Given the description of an element on the screen output the (x, y) to click on. 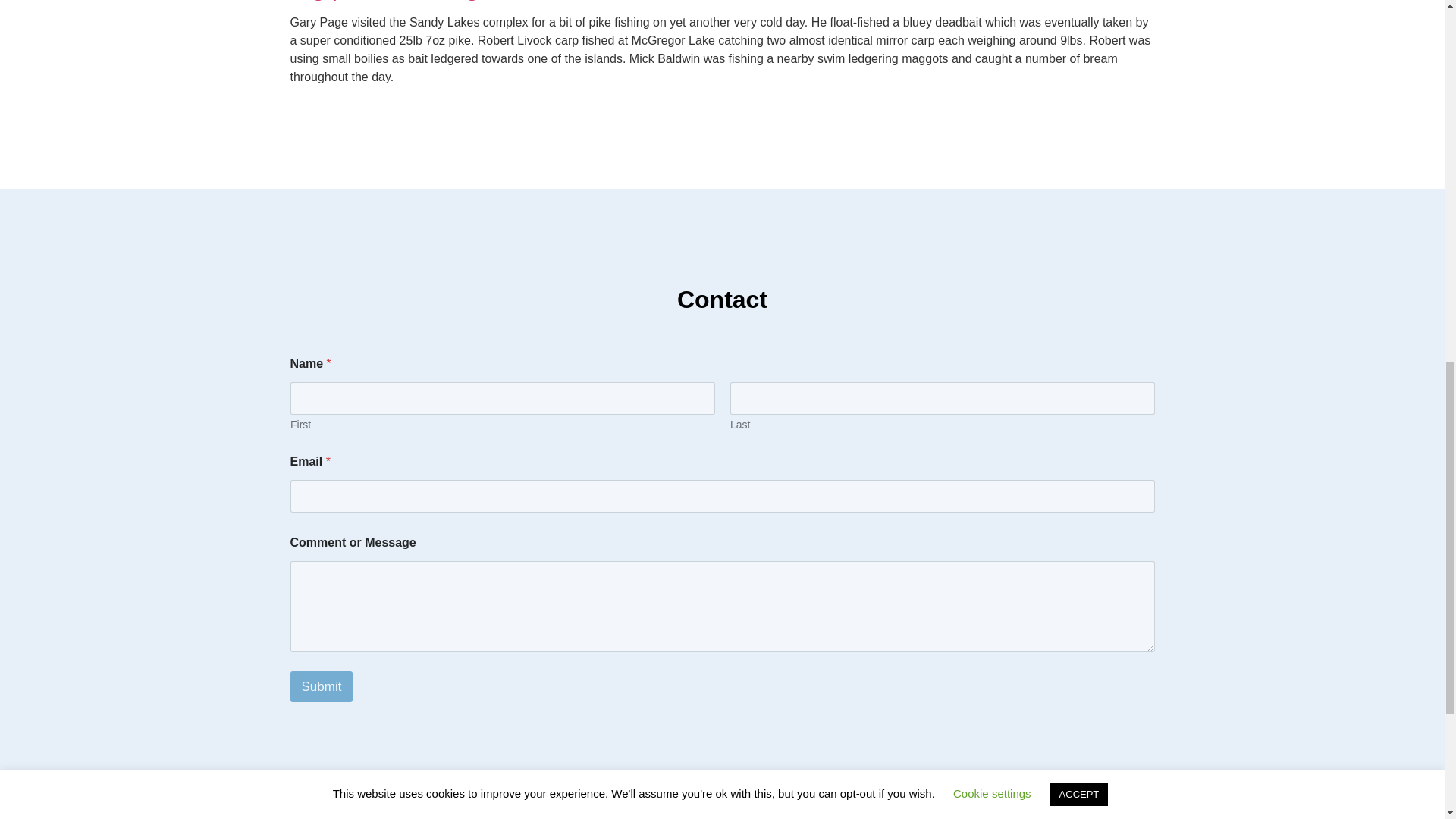
Submit (320, 685)
